Given the description of an element on the screen output the (x, y) to click on. 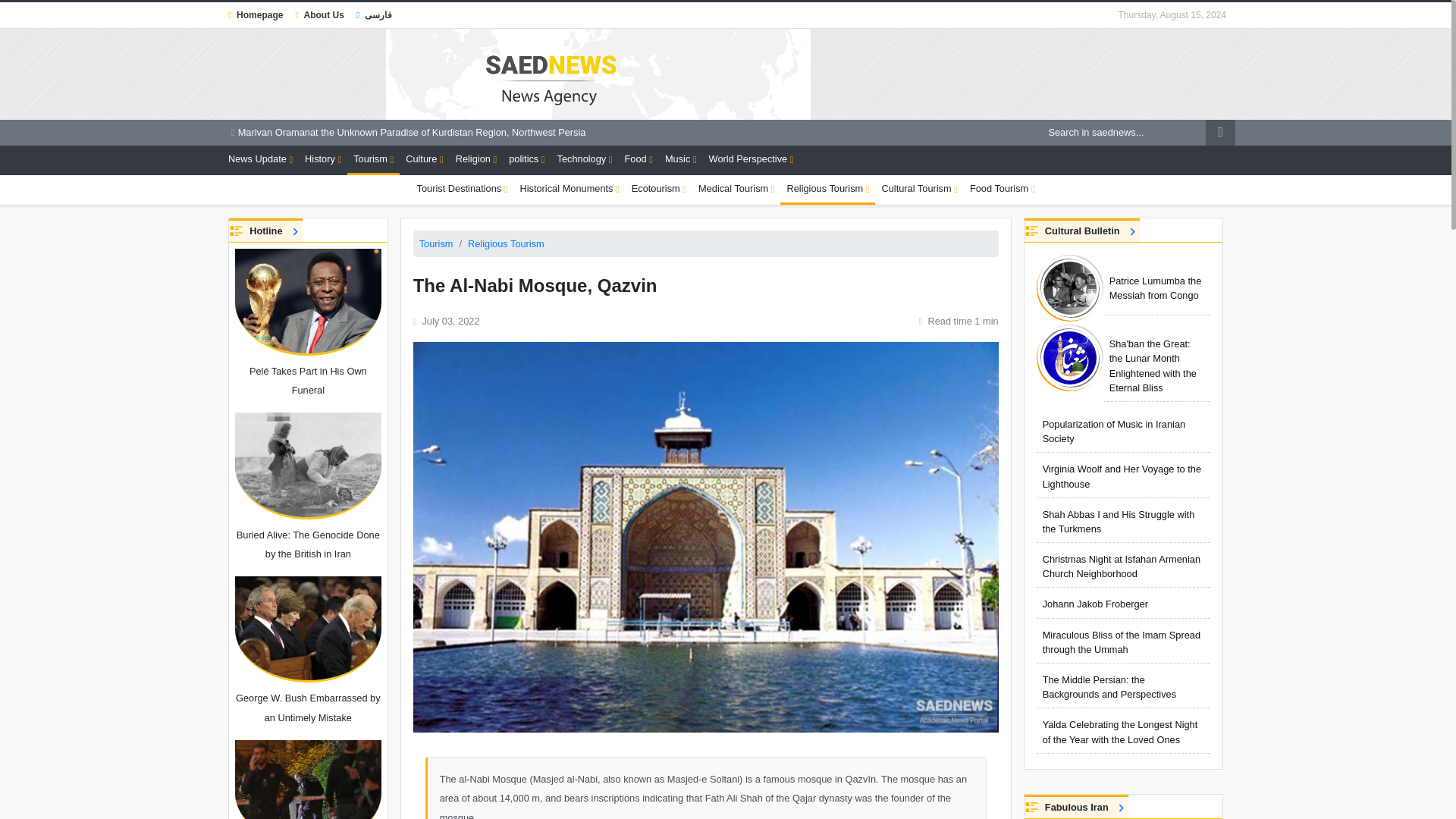
World Perspective (751, 158)
News Update (260, 158)
Religious Tourism (827, 189)
Food Tourism (1002, 188)
Technology (584, 158)
Historical Monuments (568, 188)
Religion (475, 158)
Tourism (372, 160)
  About Us (318, 14)
History (322, 158)
